Given the description of an element on the screen output the (x, y) to click on. 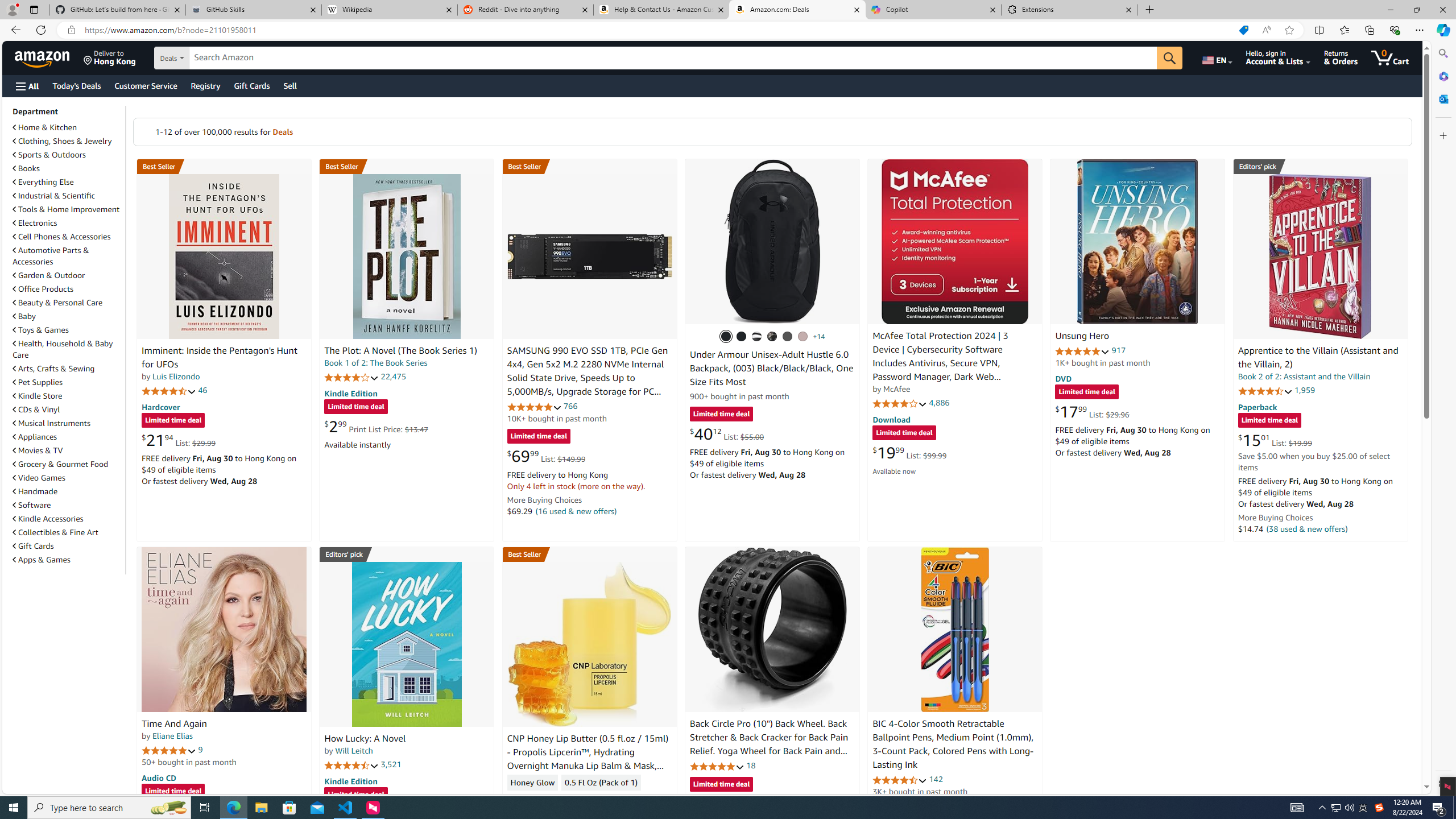
Toys & Games (40, 329)
Unsung Hero (1137, 241)
DVD (1063, 378)
Amazon.com: Deals (797, 9)
Beauty & Personal Care (58, 302)
Cell Phones & Accessories (61, 236)
Electronics (67, 222)
Grocery & Gourmet Food (61, 463)
Apps & Games (67, 559)
Cell Phones & Accessories (67, 236)
Book 2 of 2: Assistant and the Villain (1303, 376)
18 (750, 764)
$69.99 List: $149.99 (545, 455)
